Given the description of an element on the screen output the (x, y) to click on. 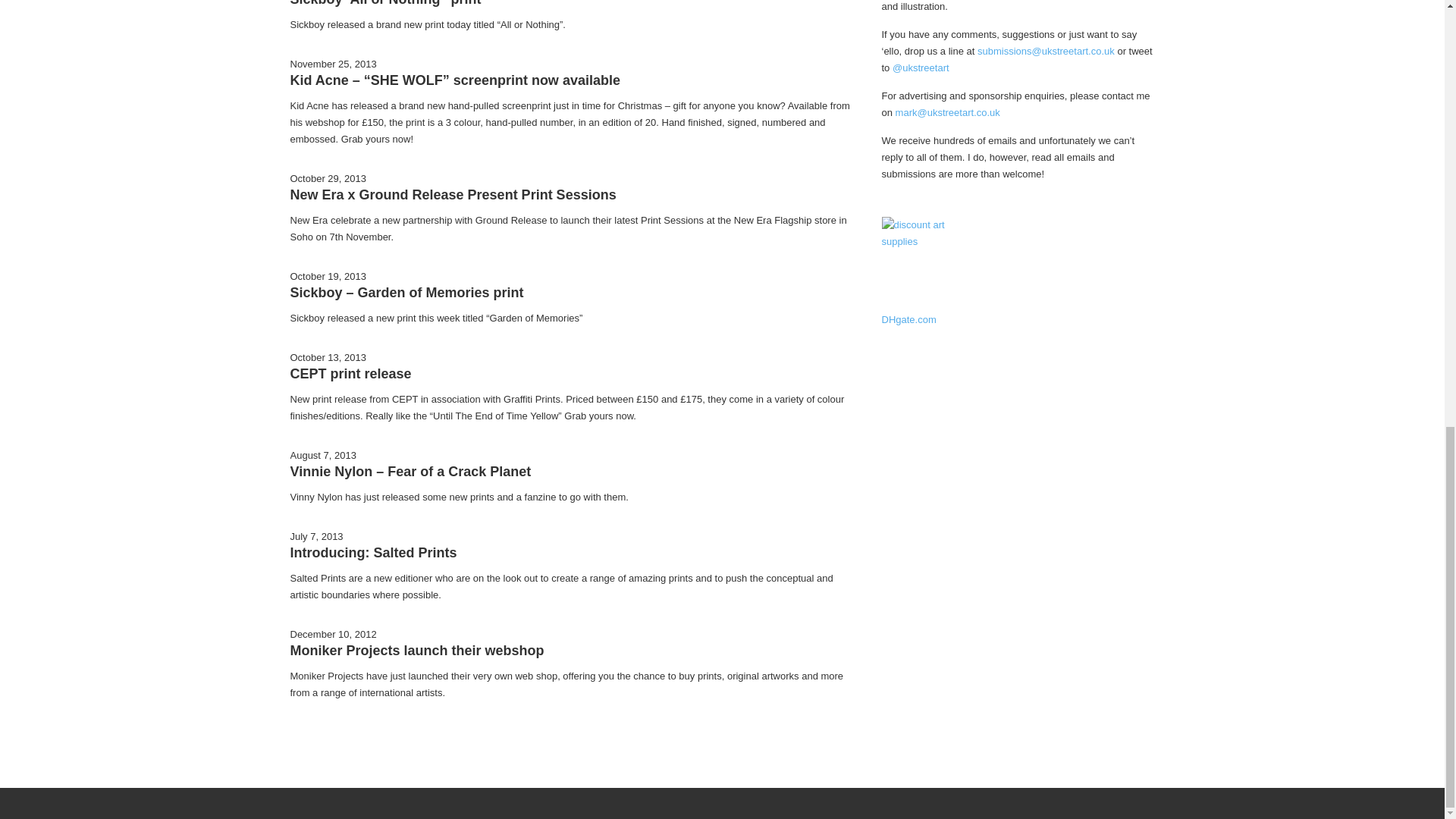
New Era x Ground Release Present Print Sessions (452, 194)
Wholesale art supplies on DHgate.com (927, 263)
Wholesale art supplies on DHgate.com (927, 264)
Introducing: Salted Prints (373, 552)
Moniker Projects launch their webshop (416, 650)
CEPT print release (349, 373)
